Given the description of an element on the screen output the (x, y) to click on. 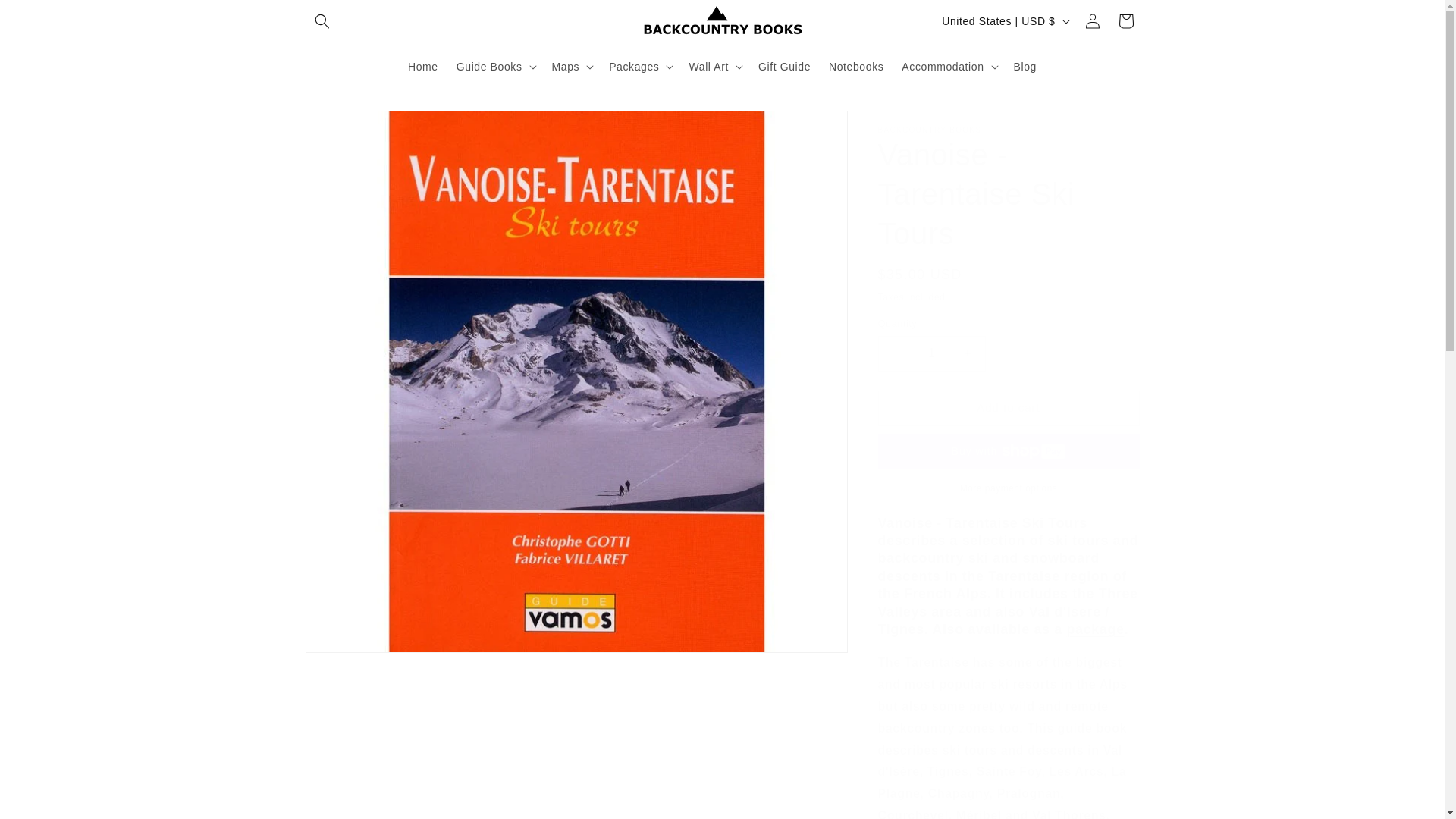
Skip to content (45, 17)
1 (931, 353)
